Given the description of an element on the screen output the (x, y) to click on. 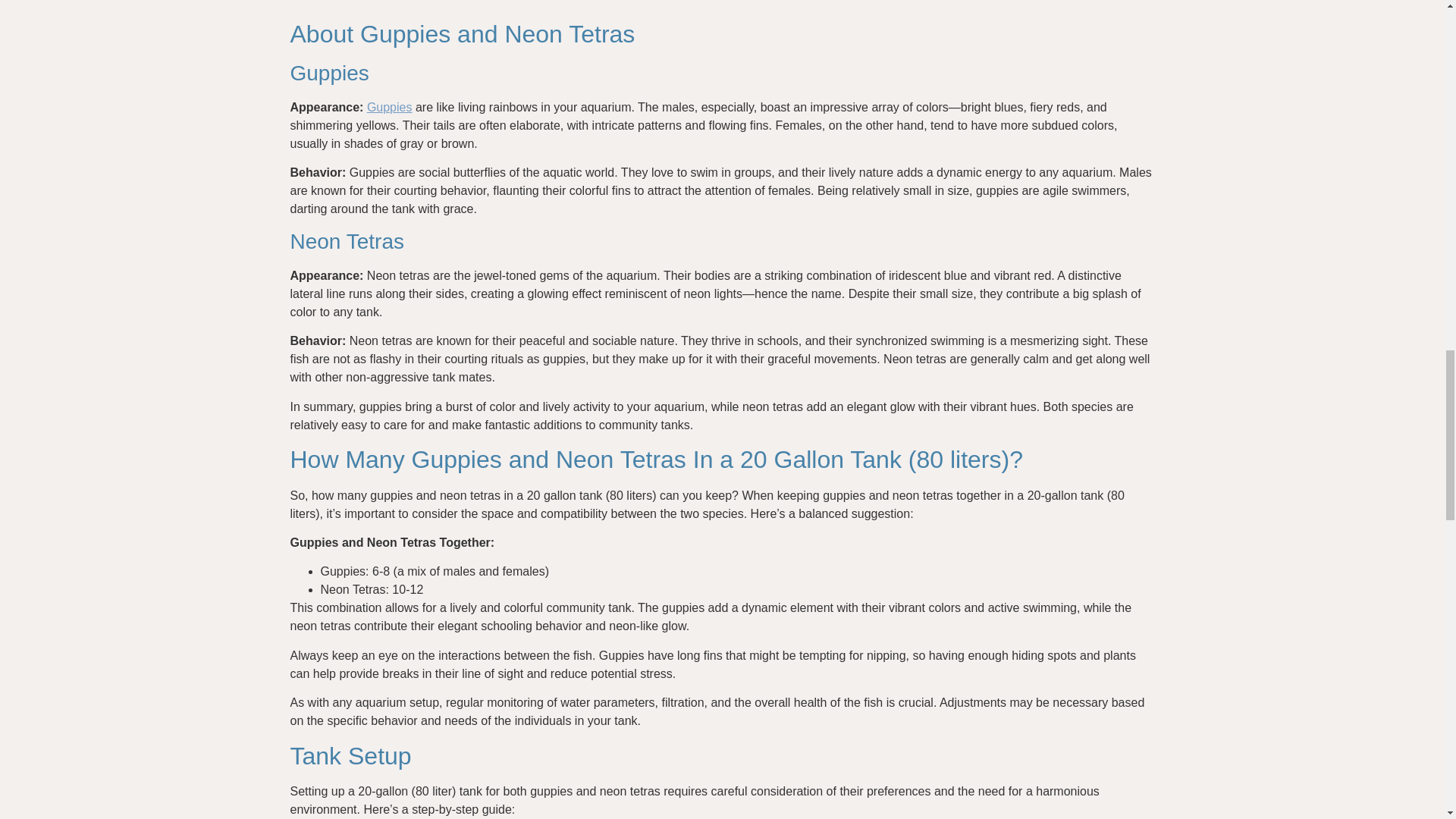
Guppies (389, 106)
